Given the description of an element on the screen output the (x, y) to click on. 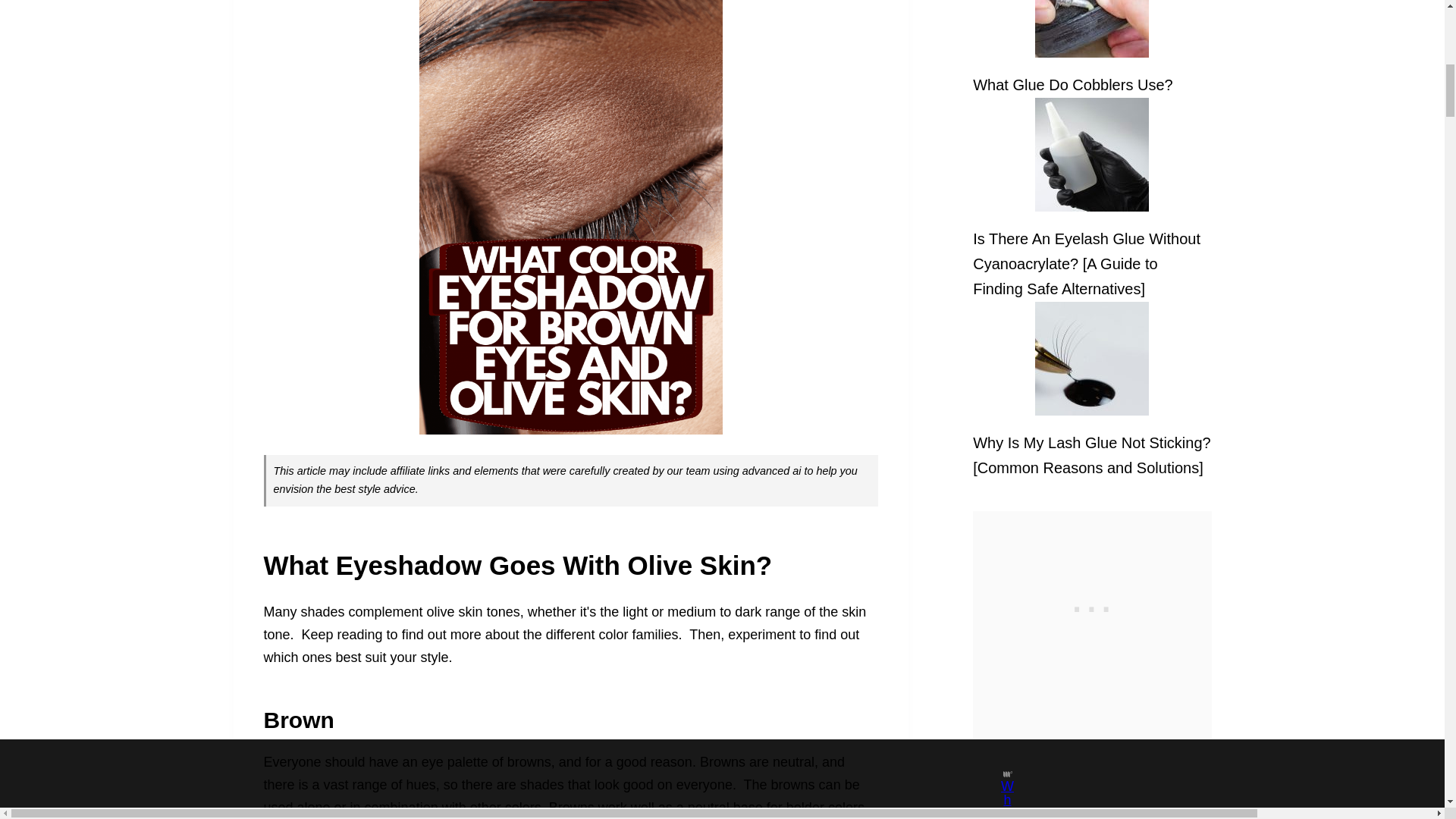
3rd party ad content (1091, 606)
